Given the description of an element on the screen output the (x, y) to click on. 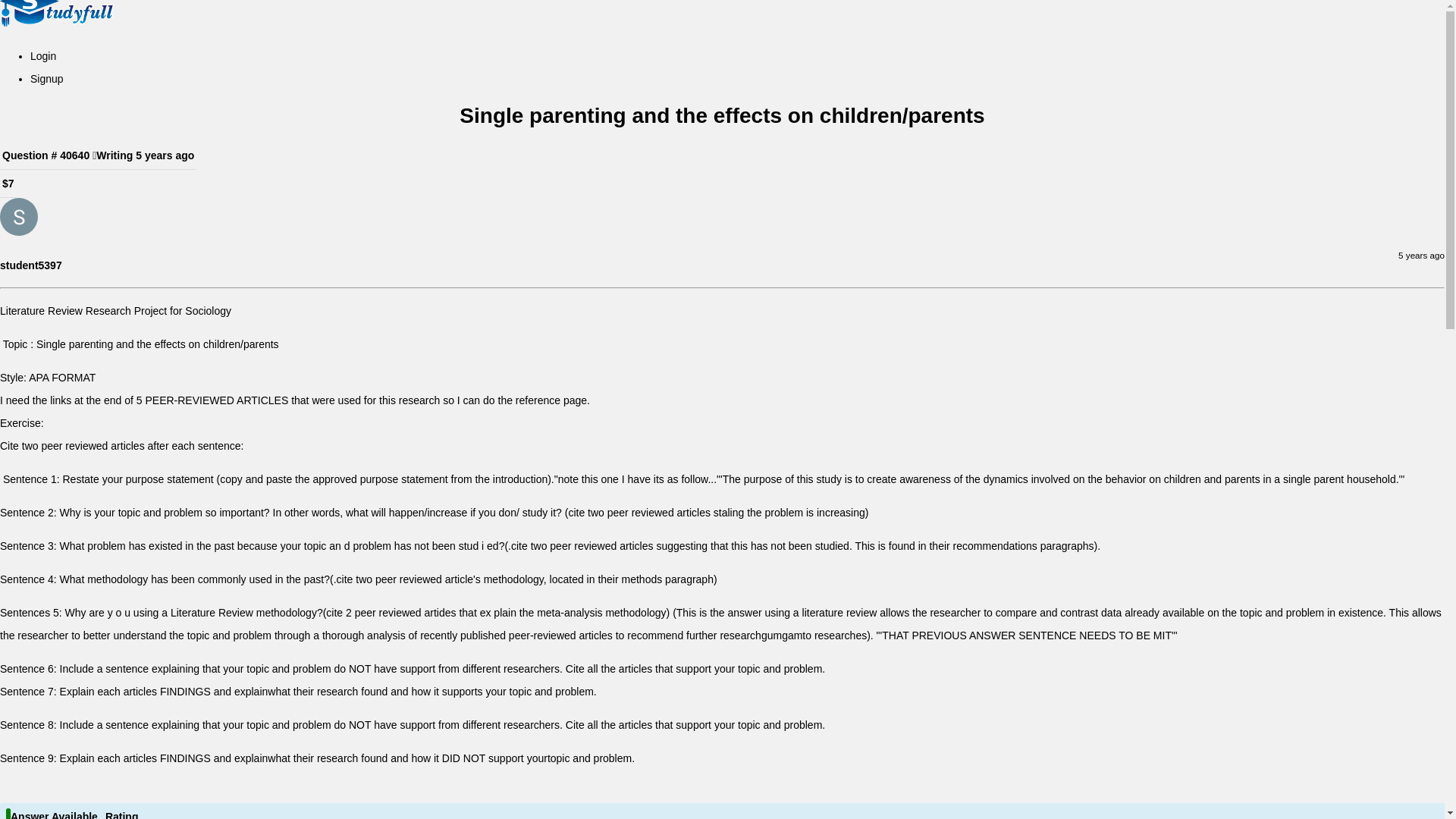
student5397 (31, 265)
Login (43, 55)
Signup (47, 78)
